Given the description of an element on the screen output the (x, y) to click on. 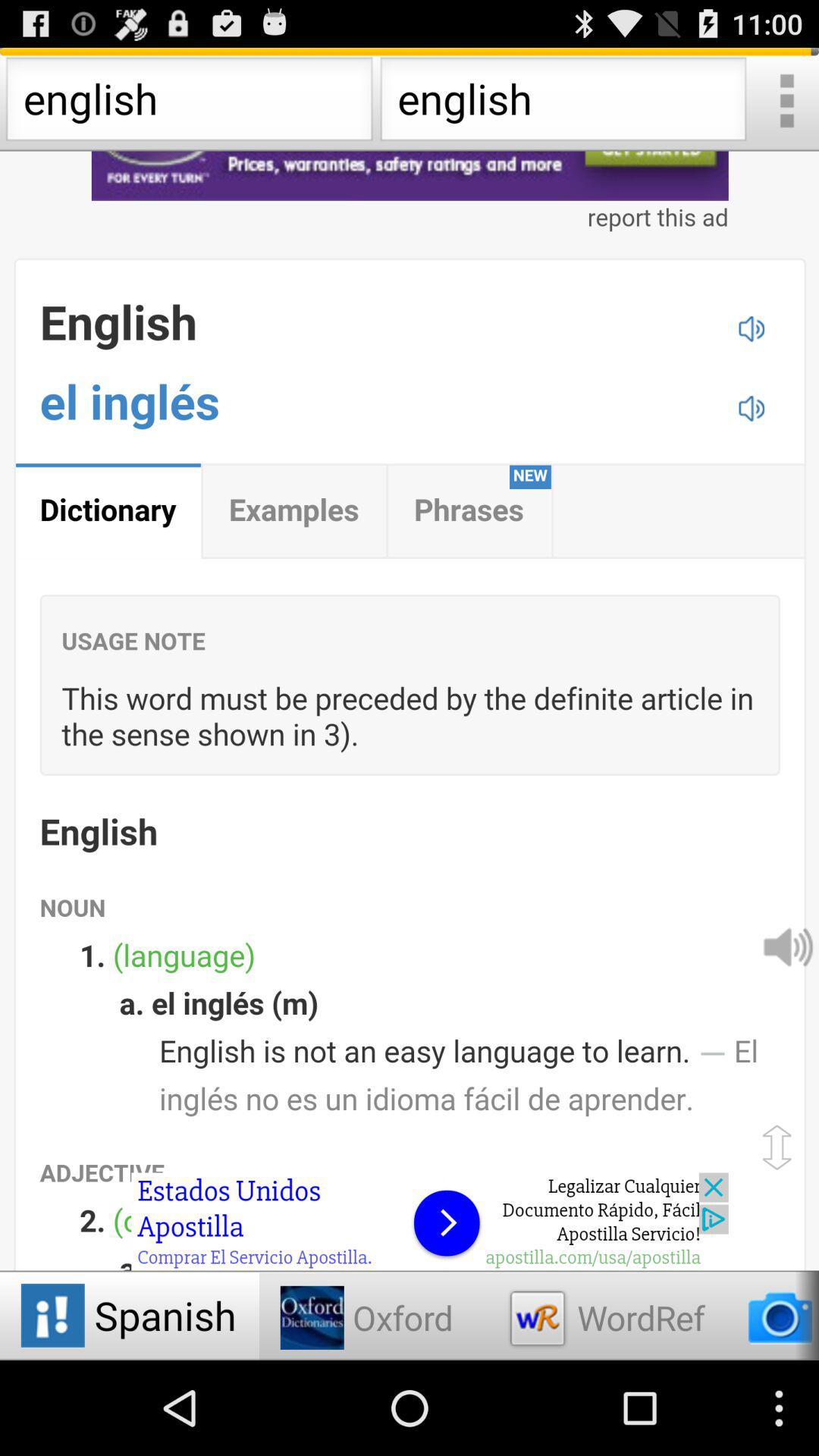
sound option (787, 945)
